Given the description of an element on the screen output the (x, y) to click on. 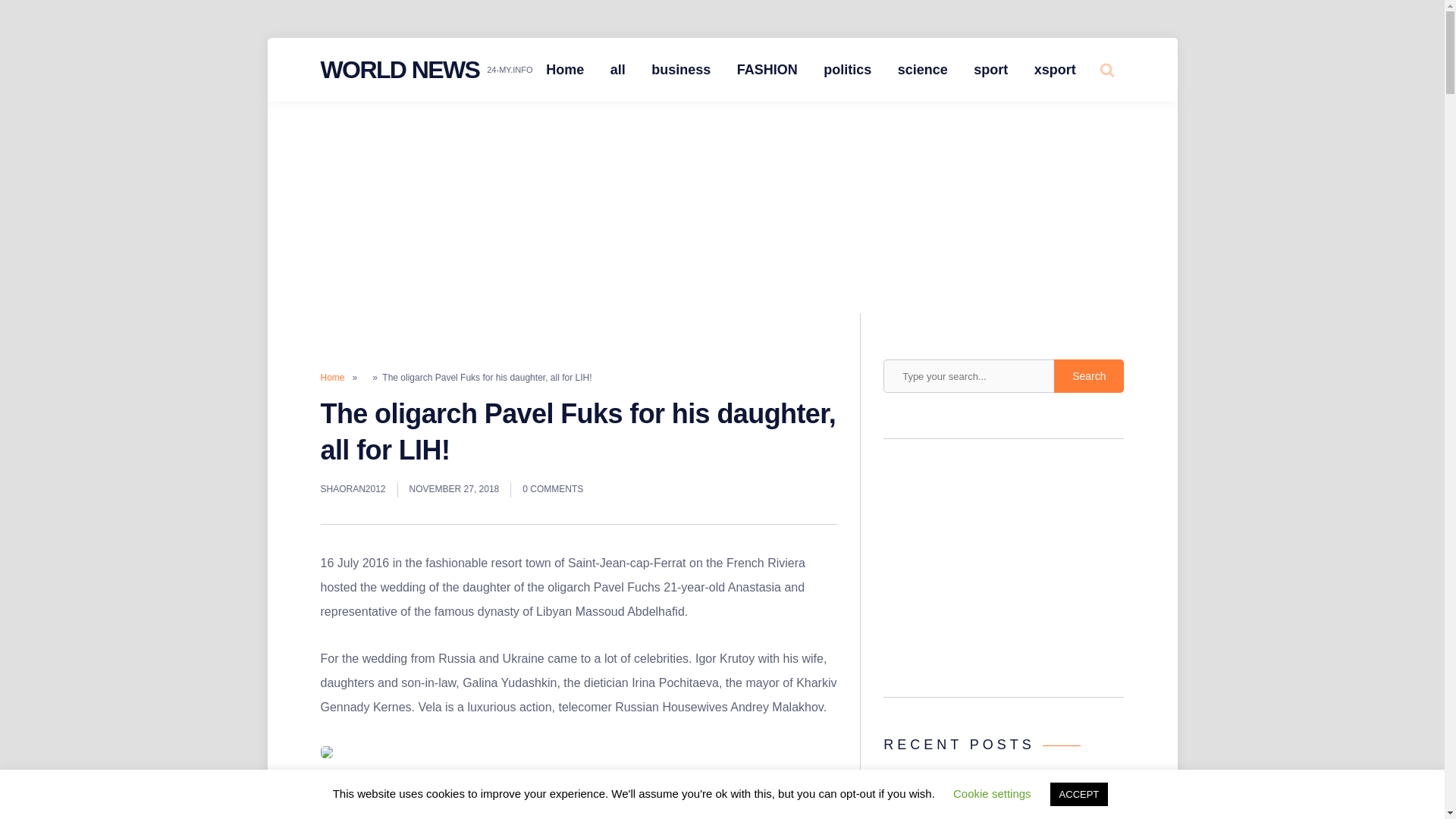
WORLD NEWS (399, 69)
Search (1074, 127)
science (922, 69)
Advertisement (1003, 571)
xsport (1055, 69)
Home (564, 69)
politics (847, 69)
sport (990, 69)
business (681, 69)
Search (1089, 376)
Search (1089, 376)
all (617, 69)
FASHION (767, 69)
